Given the description of an element on the screen output the (x, y) to click on. 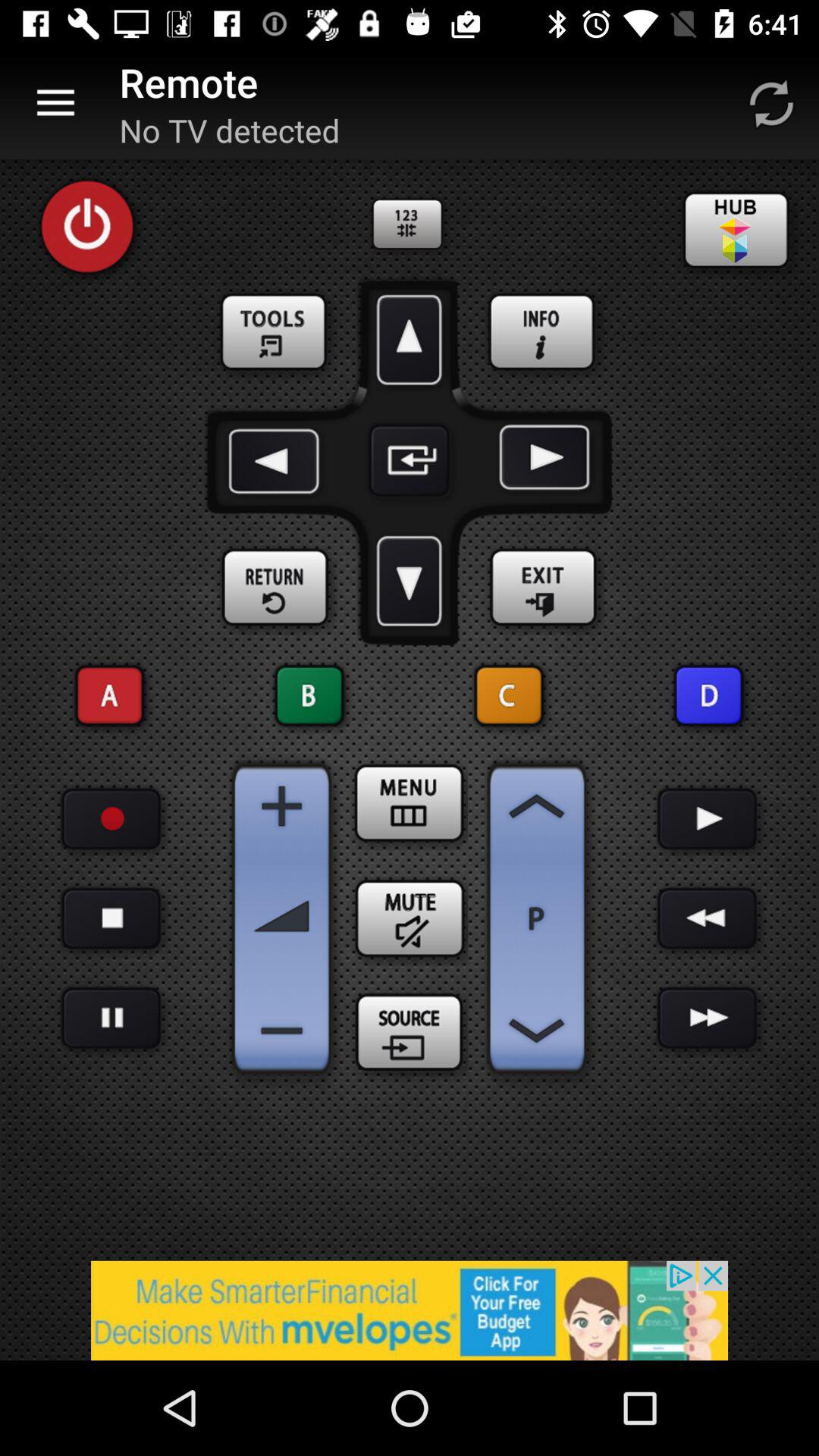
click return (275, 588)
